Given the description of an element on the screen output the (x, y) to click on. 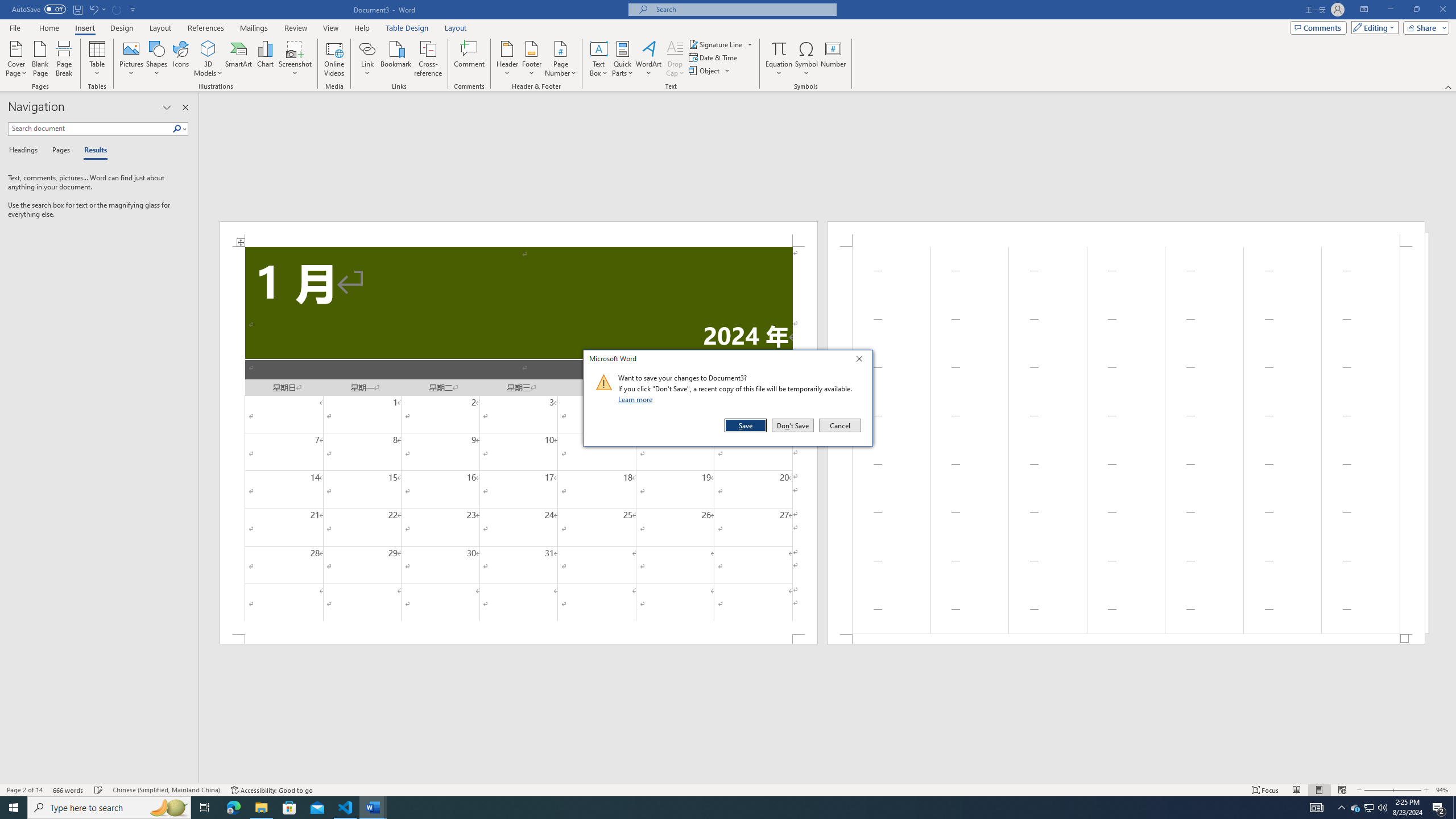
Blank Page (40, 58)
Learn more (636, 399)
Equation (778, 58)
Page Number (560, 58)
Object... (709, 69)
Header (507, 58)
Text Box (598, 58)
